Given the description of an element on the screen output the (x, y) to click on. 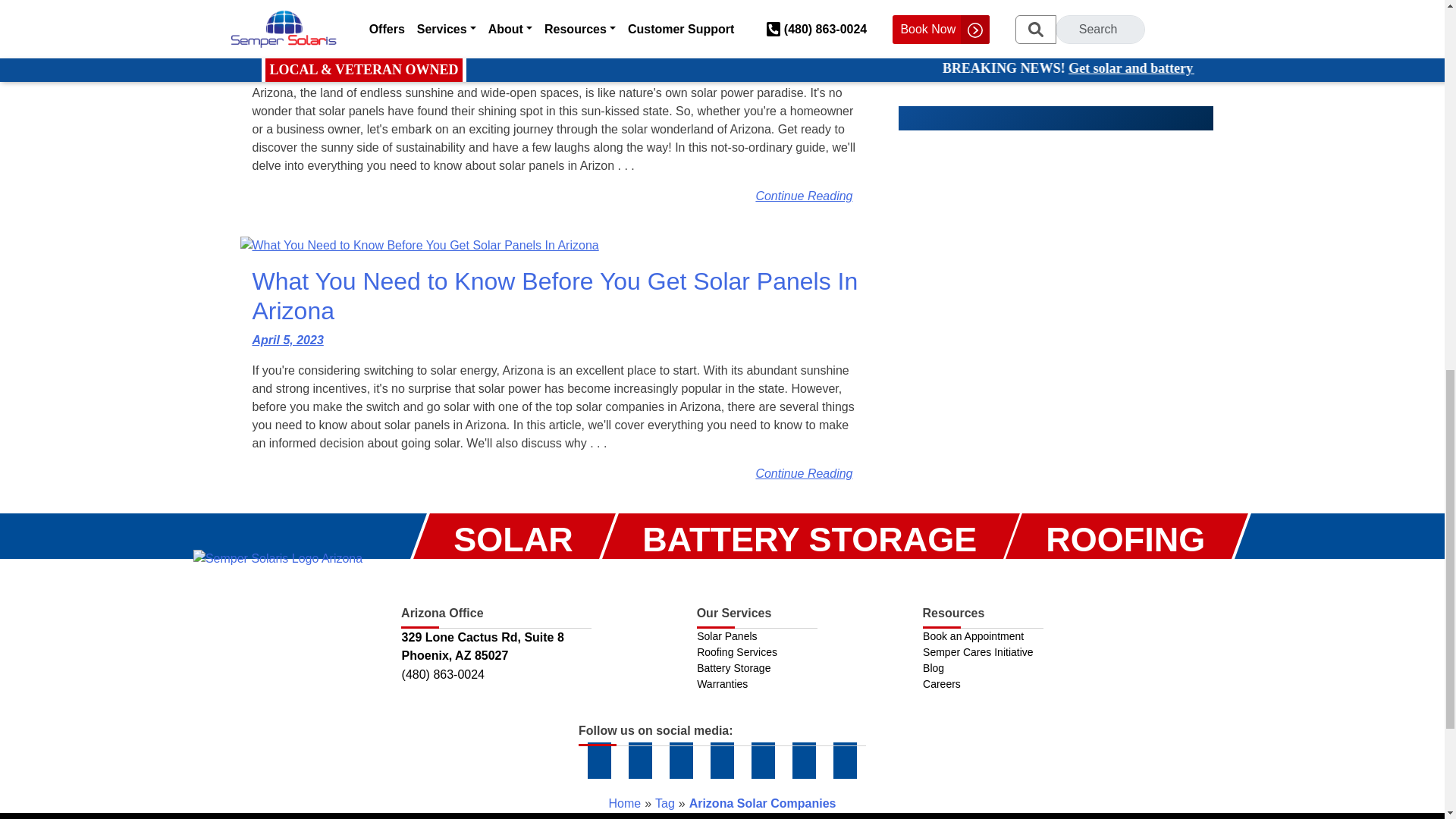
Semper Solaris (277, 558)
April 5, 2023 (287, 339)
Arizona Address (496, 646)
Call Semper Solaris Arizona Office (496, 674)
Continue Reading (803, 196)
What You Need to Know Before You Get Solar Panels In Arizona (555, 295)
June 6, 2023 (287, 62)
